Given the description of an element on the screen output the (x, y) to click on. 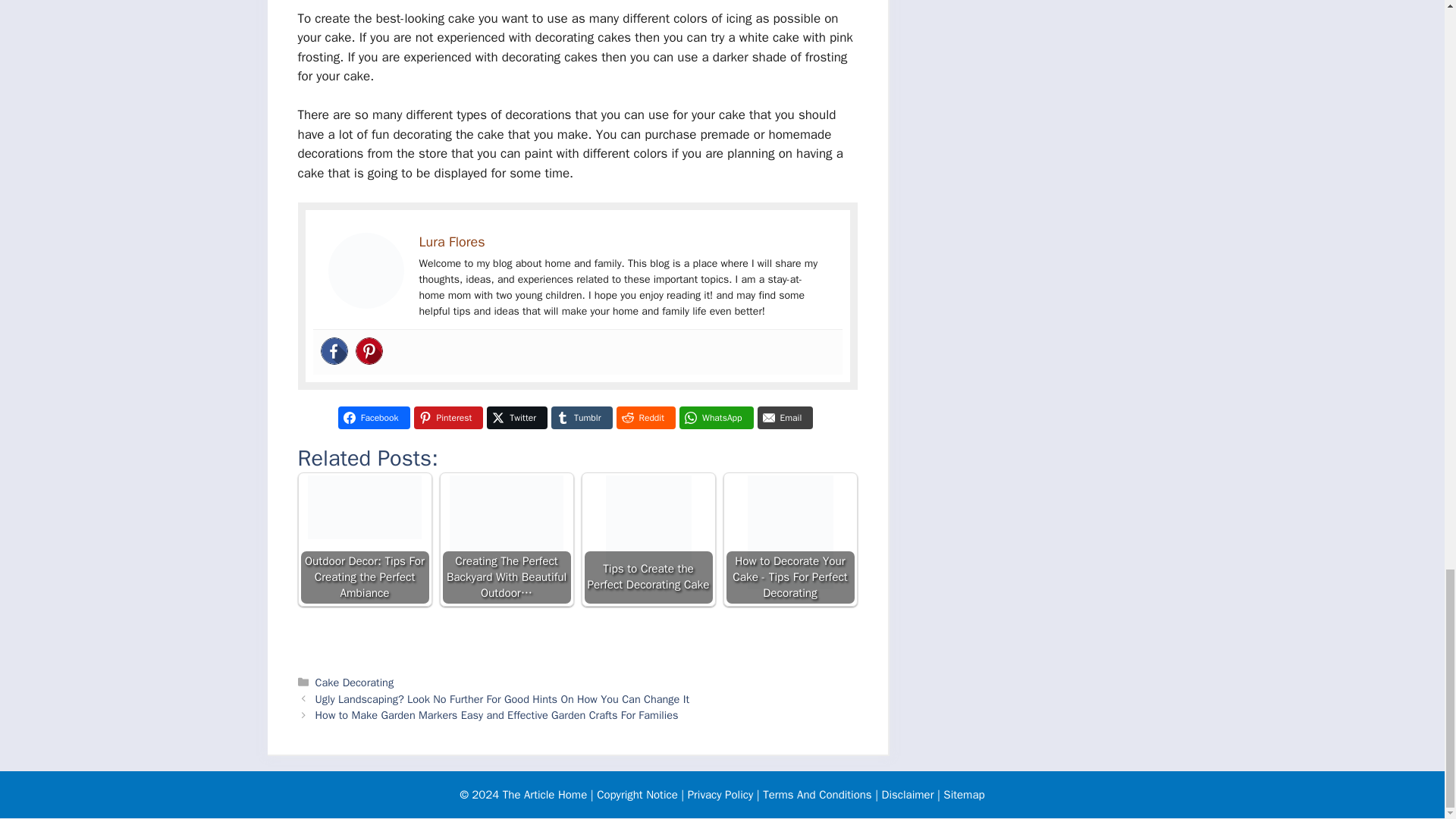
Facebook (333, 350)
Pinterest (368, 350)
Share on Tumblr (581, 417)
Share on Reddit (645, 417)
Outdoor Decor: Tips For Creating the Perfect Ambiance (364, 506)
Share on Twitter (516, 417)
Share on Facebook (373, 417)
Share on WhatsApp (716, 417)
Share on Email (785, 417)
